Given the description of an element on the screen output the (x, y) to click on. 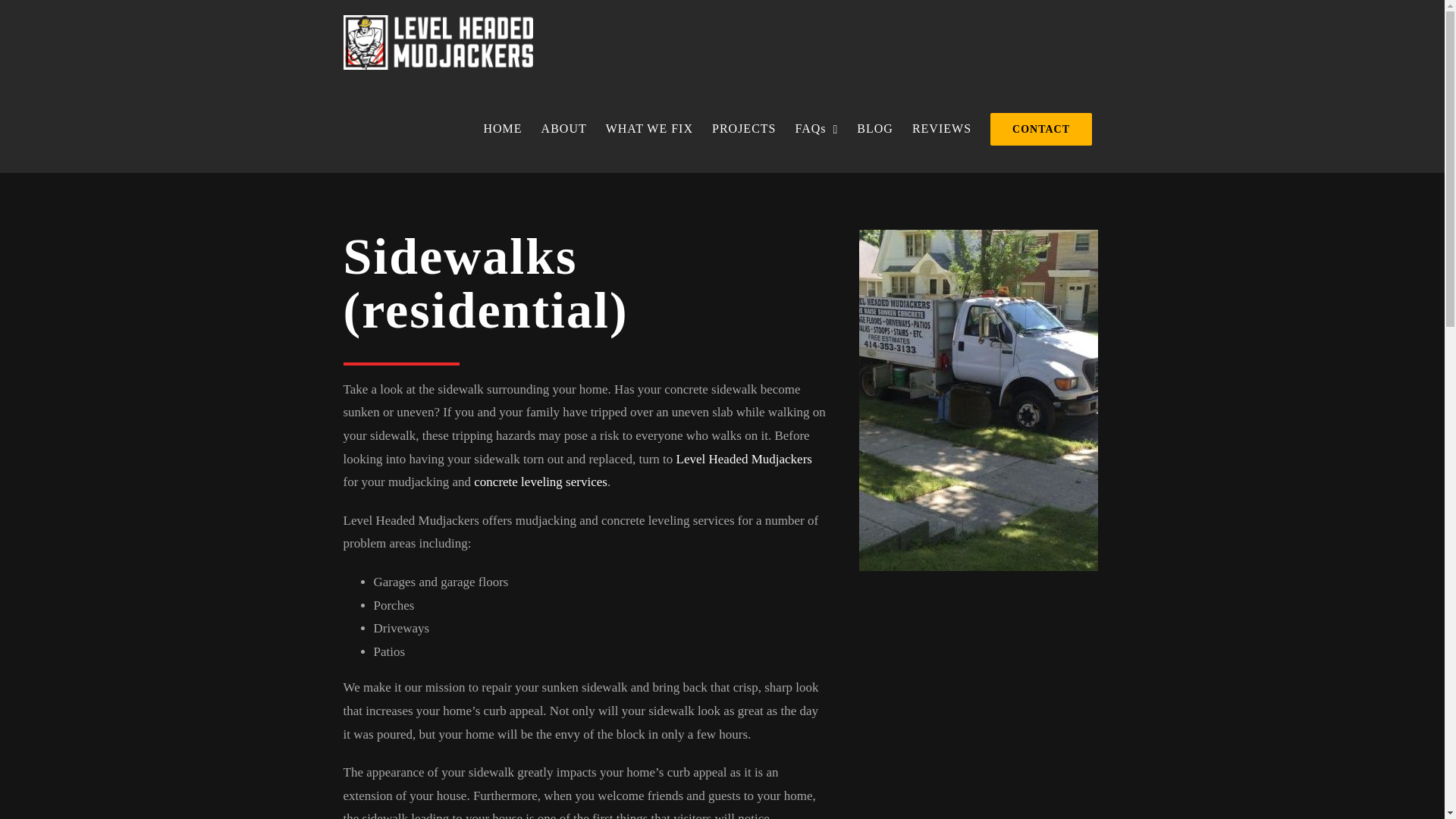
Level Headed Mudjackers (744, 459)
CONTACT (1041, 128)
concrete leveling services (540, 481)
PROJECTS (742, 128)
WHAT WE FIX (648, 128)
